Given the description of an element on the screen output the (x, y) to click on. 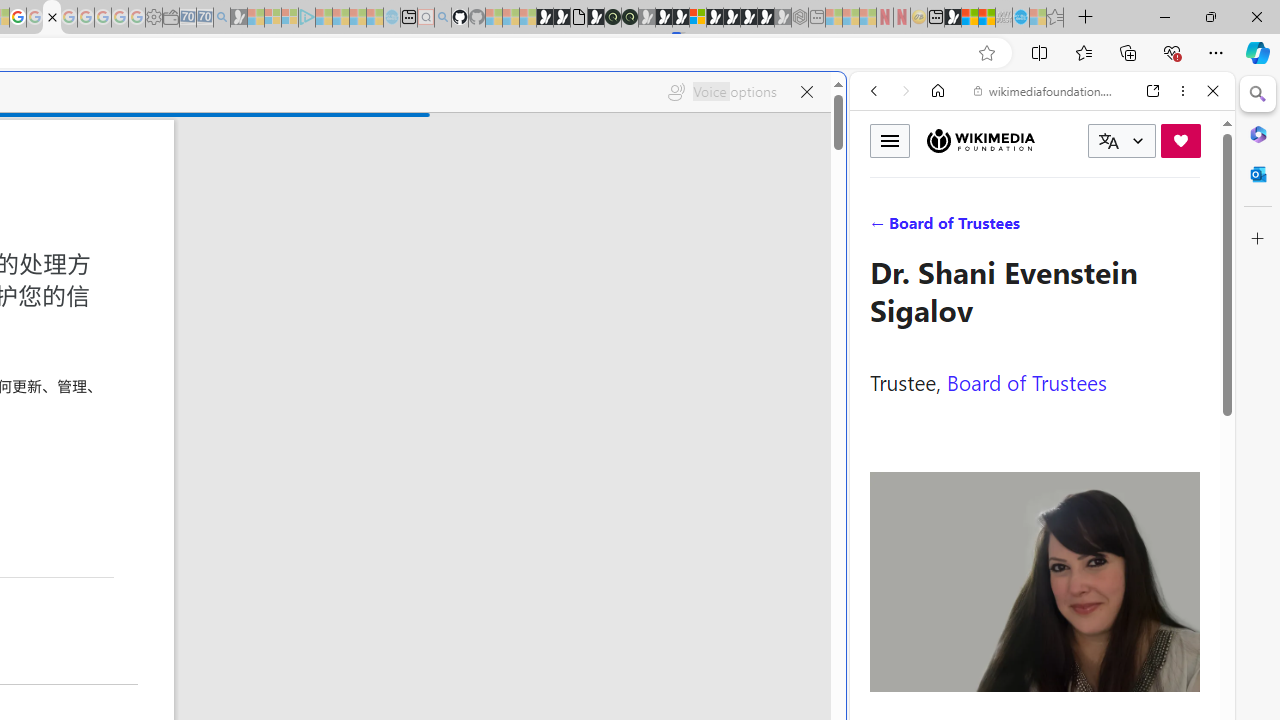
Class: i icon icon-translate language-switcher__icon (1108, 141)
Wikimedia Foundation (980, 140)
Future Focus Report 2024 (629, 17)
Wikimedia Foundation (980, 141)
